Given the description of an element on the screen output the (x, y) to click on. 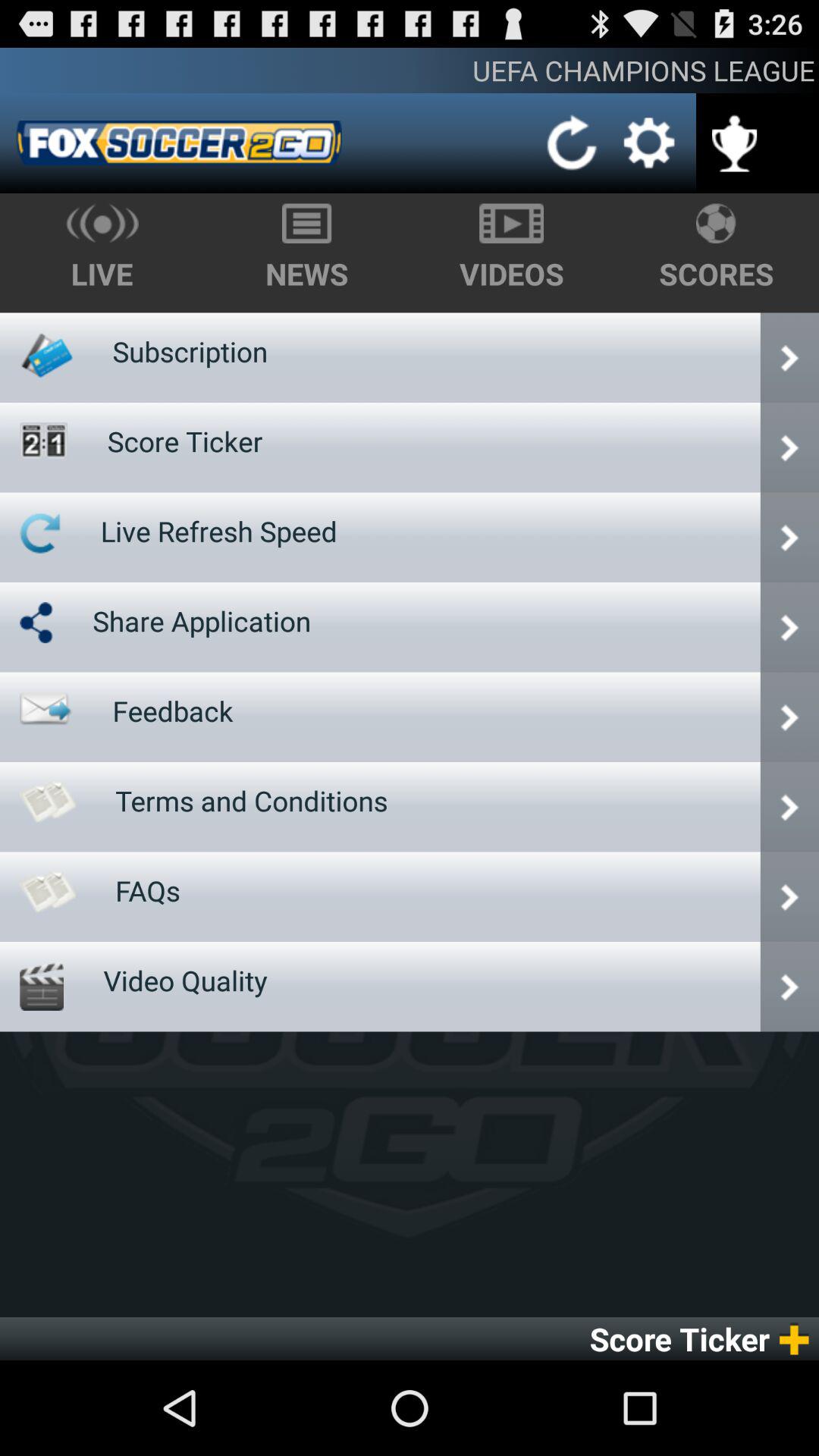
choose the feedback icon (172, 710)
